Given the description of an element on the screen output the (x, y) to click on. 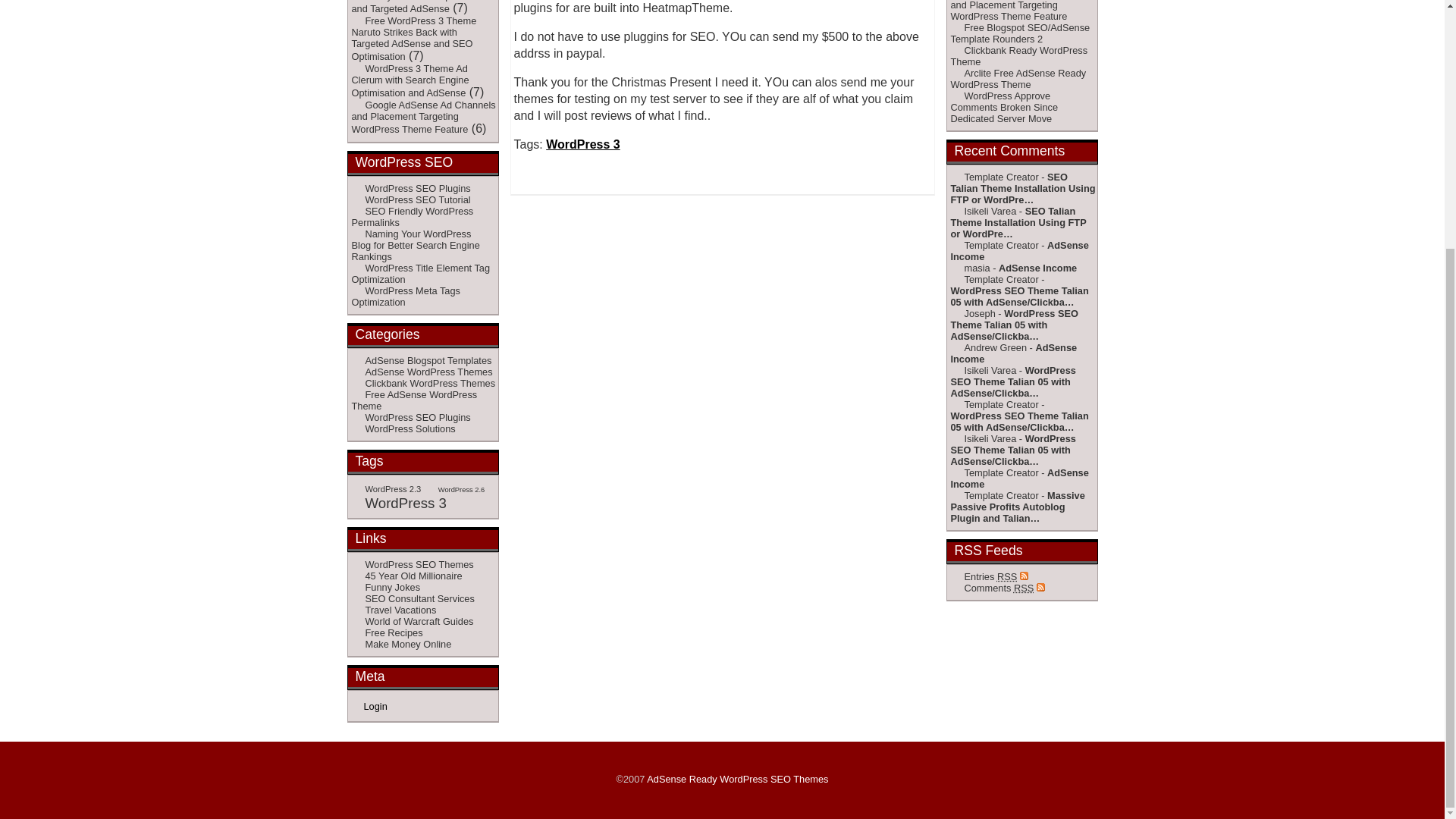
masia - AdSense Income (1013, 268)
Andrew Green - AdSense Income (1013, 352)
Entries RSS (988, 576)
Clickbank Ready WordPress Theme (1018, 55)
WordPress 3 (583, 144)
Clickbank Ready WordPress Theme (1018, 55)
Arclite Free AdSense Ready WordPress Theme (1018, 78)
Comments RSS (997, 587)
Template Creator - AdSense Income (1019, 478)
Arclite Free AdSense Ready WordPress Theme (1018, 78)
Template Creator - AdSense Income (1019, 250)
